Given the description of an element on the screen output the (x, y) to click on. 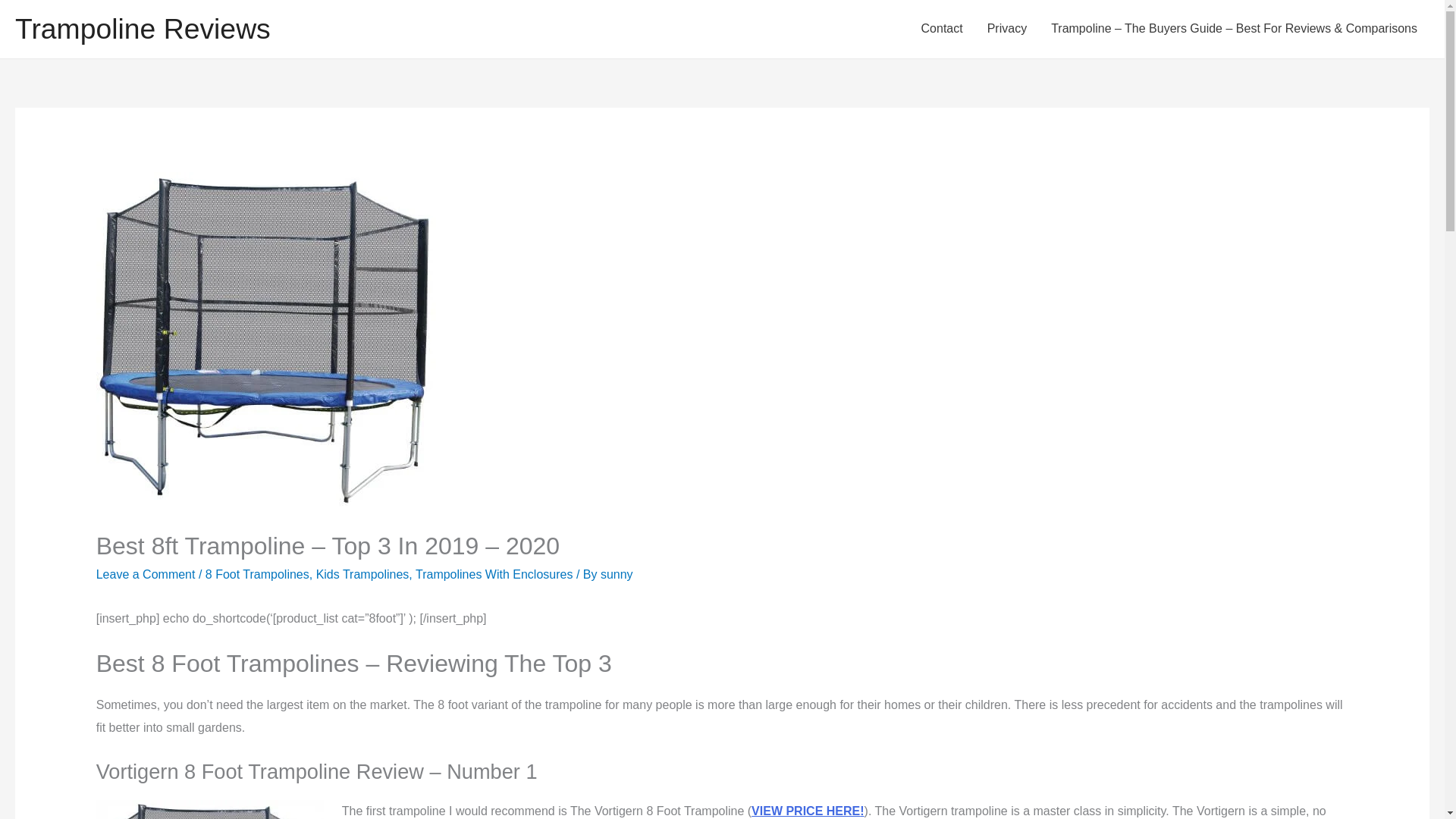
Trampoline Reviews (142, 29)
Contact (941, 29)
8 Foot Trampolines (256, 574)
VIEW PRICE HERE! (807, 810)
View all posts by sunny (616, 574)
Trampolines With Enclosures (493, 574)
Kids Trampolines (362, 574)
sunny (616, 574)
Privacy (1007, 29)
Leave a Comment (145, 574)
